Given the description of an element on the screen output the (x, y) to click on. 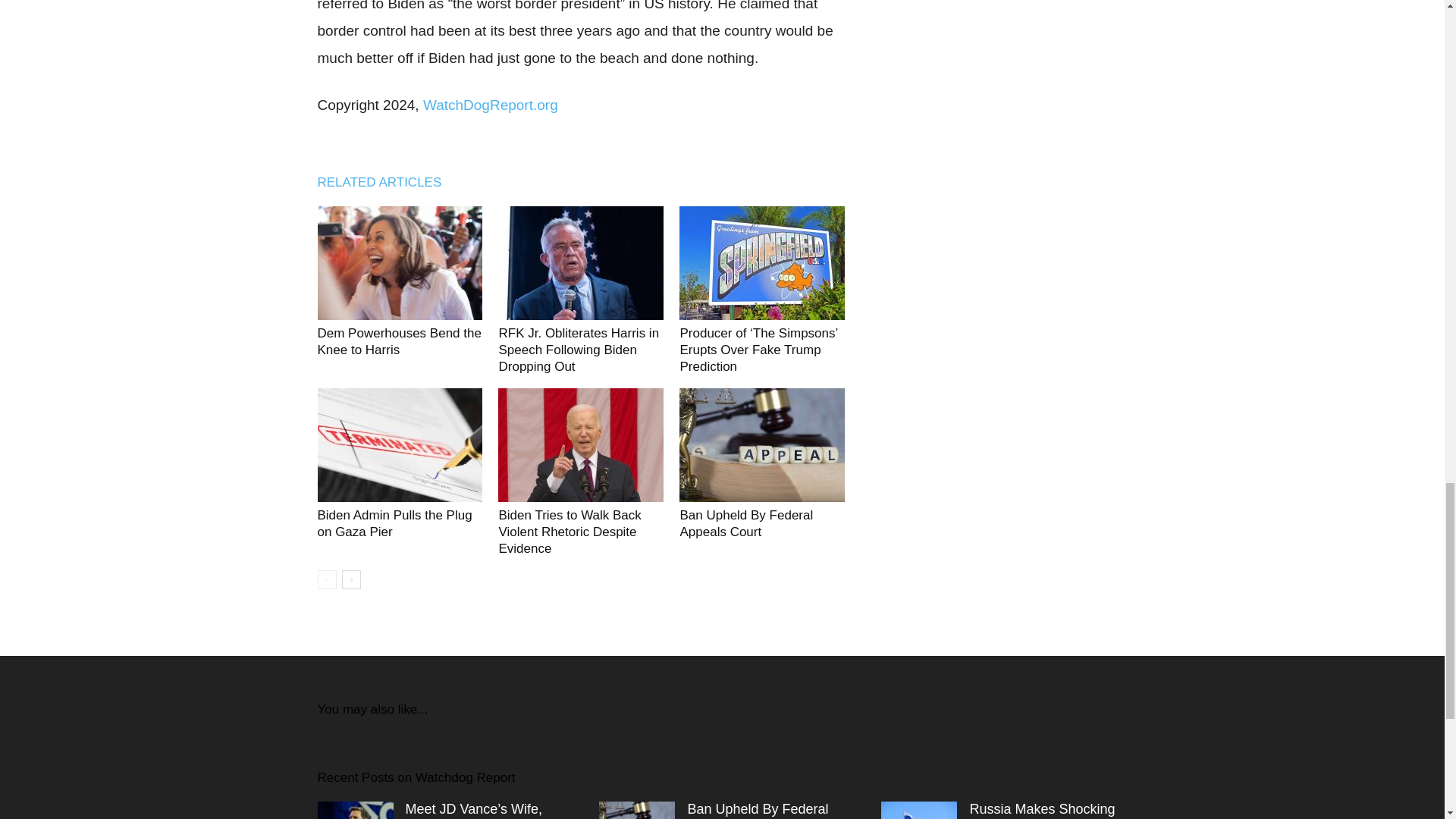
Biden Admin Pulls the Plug on Gaza Pier (394, 522)
Biden Tries to Walk Back Violent Rhetoric Despite Evidence (568, 531)
RELATED ARTICLES (387, 182)
Dem Powerhouses Bend the Knee to Harris (398, 341)
Dem Powerhouses Bend the Knee to Harris (399, 263)
Dem Powerhouses Bend the Knee to Harris (398, 341)
Ban Upheld By Federal Appeals Court (745, 522)
WatchDogReport.org (488, 105)
